Given the description of an element on the screen output the (x, y) to click on. 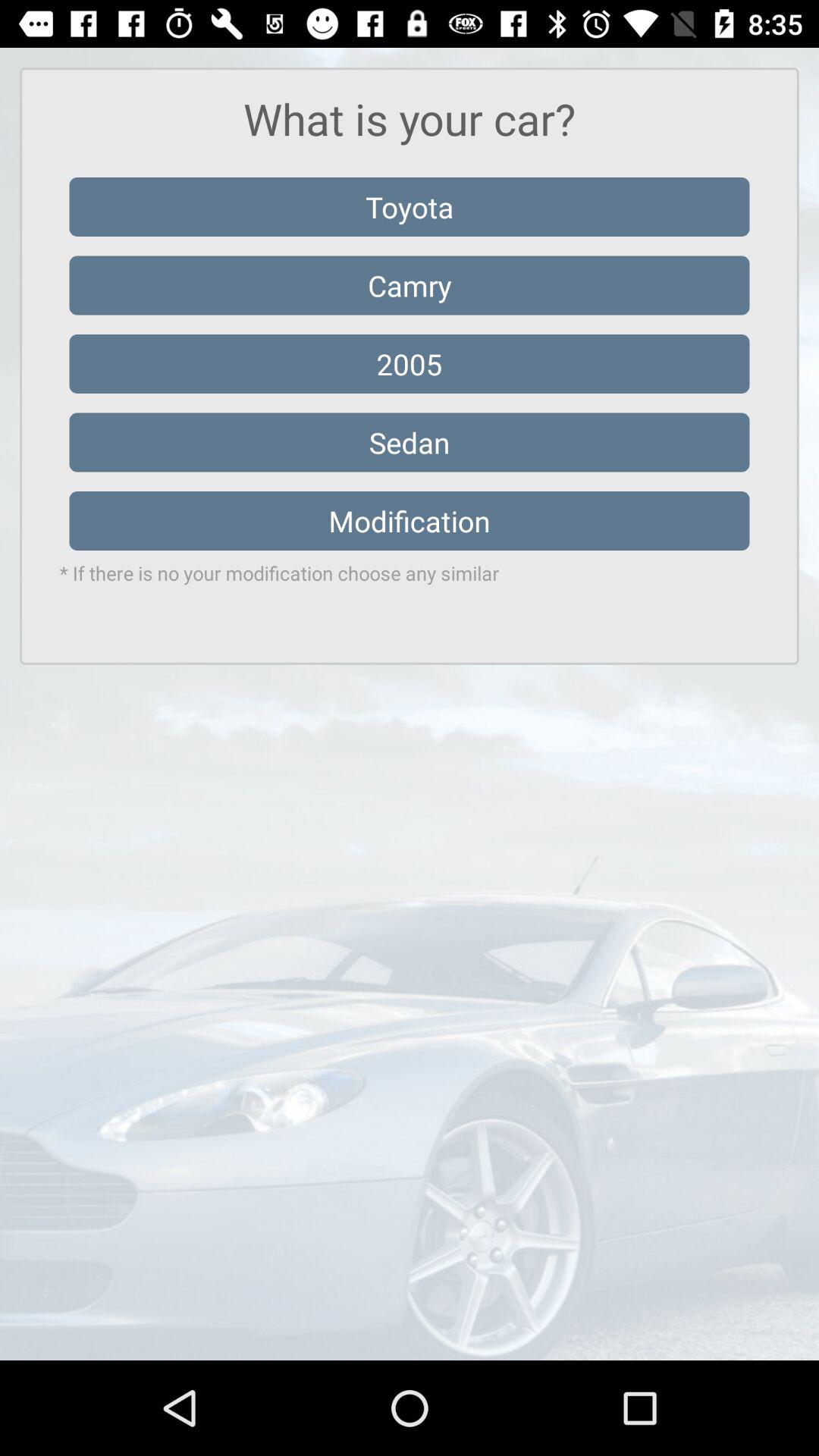
tap the sedan item (409, 442)
